Given the description of an element on the screen output the (x, y) to click on. 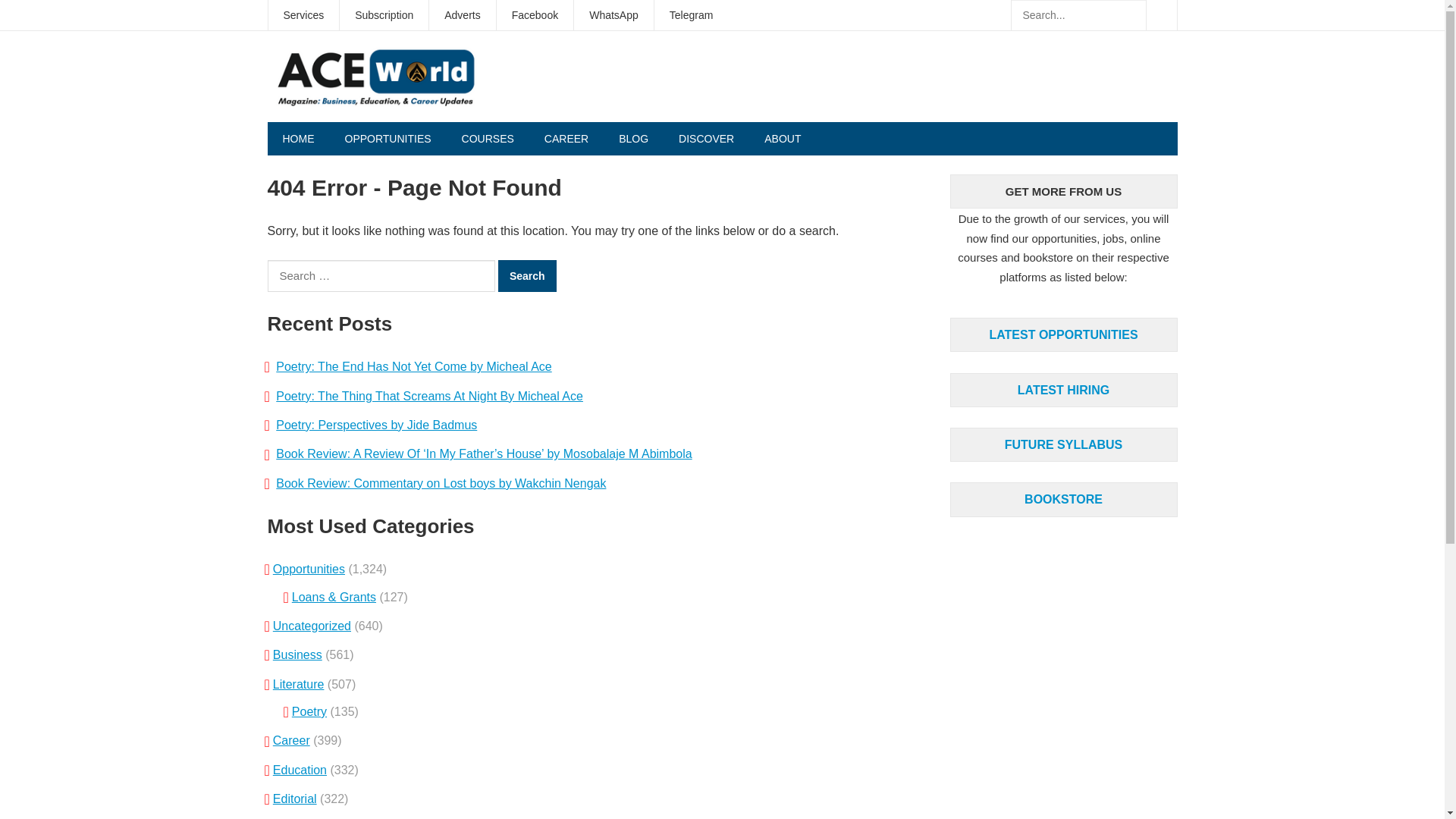
Poetry: The Thing That Screams At Night By Micheal Ace (429, 395)
Book Review: Commentary on Lost boys by Wakchin Nengak (440, 482)
Search (526, 275)
Telegram (691, 15)
Adverts (462, 15)
Facebook (534, 15)
COURSES (487, 138)
OPPORTUNITIES (387, 138)
Subscription (383, 15)
Poetry: The End Has Not Yet Come by Micheal Ace (413, 366)
Services (303, 15)
ABOUT (782, 138)
HOME (297, 138)
Poetry: Perspectives by Jide Badmus (376, 424)
WhatsApp (613, 15)
